Given the description of an element on the screen output the (x, y) to click on. 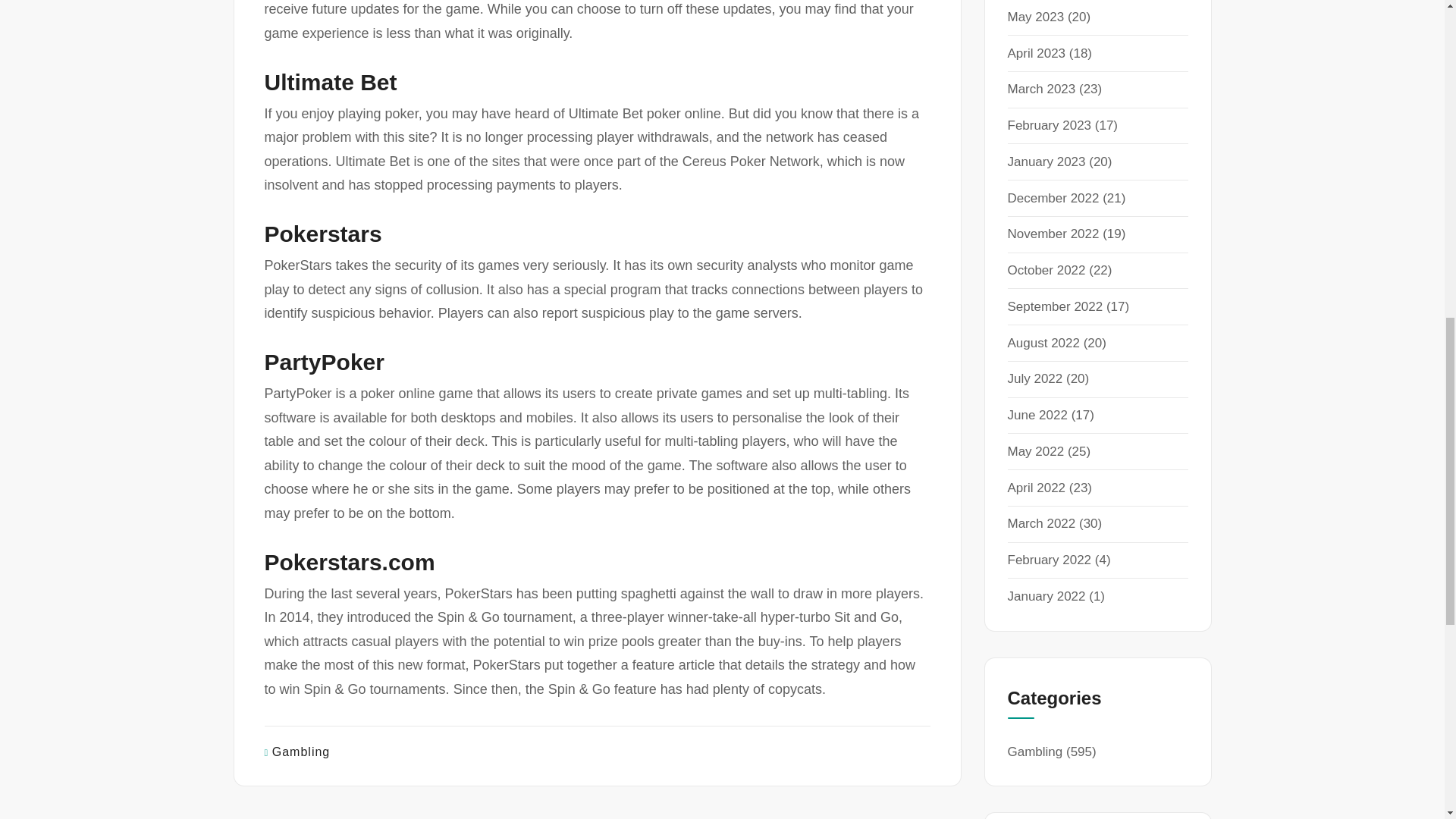
Gambling (301, 751)
May 2023 (1035, 16)
August 2022 (1042, 342)
October 2022 (1045, 269)
February 2023 (1048, 124)
January 2023 (1045, 161)
March 2023 (1041, 88)
April 2023 (1036, 52)
December 2022 (1053, 197)
September 2022 (1054, 306)
November 2022 (1053, 233)
